Given the description of an element on the screen output the (x, y) to click on. 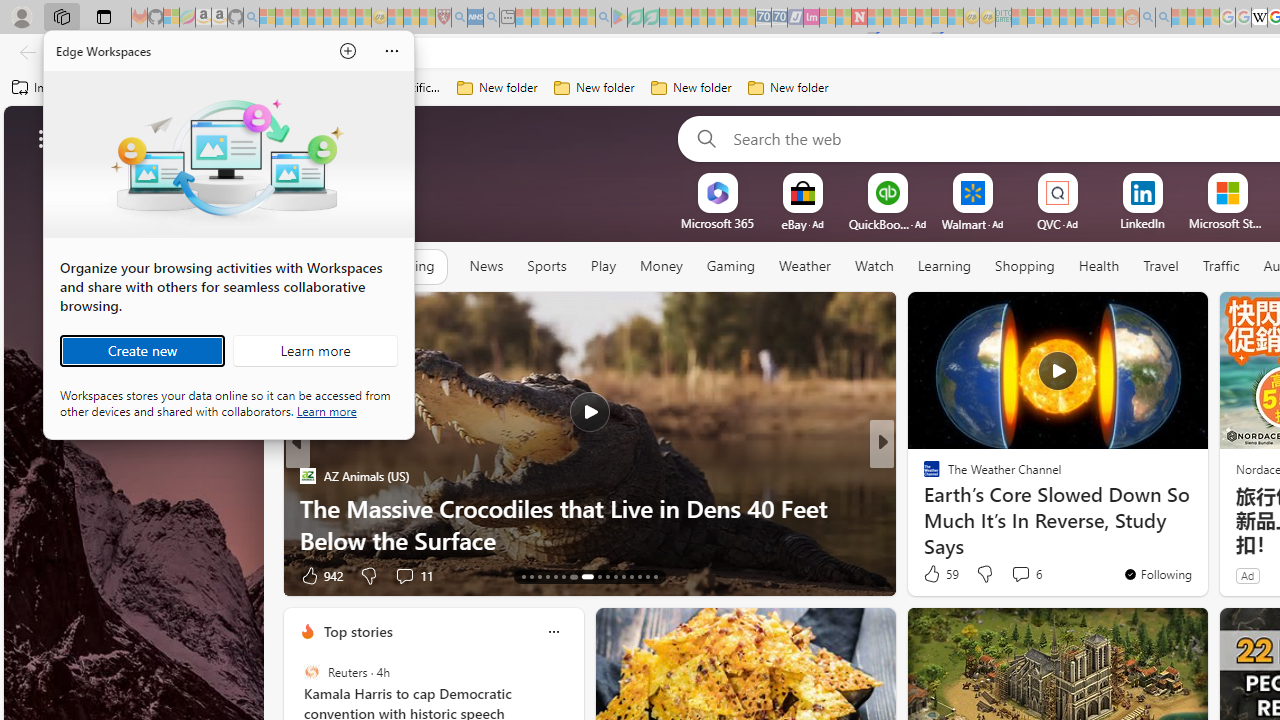
View comments 11 Comment (1029, 574)
Gaming (730, 267)
AutomationID: tab-18 (563, 576)
Top stories (357, 631)
View comments 6 Comment (1025, 574)
AutomationID: tab-13 (522, 576)
Shopping (1025, 267)
Health (1098, 267)
Traffic (1220, 265)
Rarest.org (923, 507)
Kinda Frugal - MSN - Sleeping (1083, 17)
AutomationID: tab-17 (555, 576)
